Given the description of an element on the screen output the (x, y) to click on. 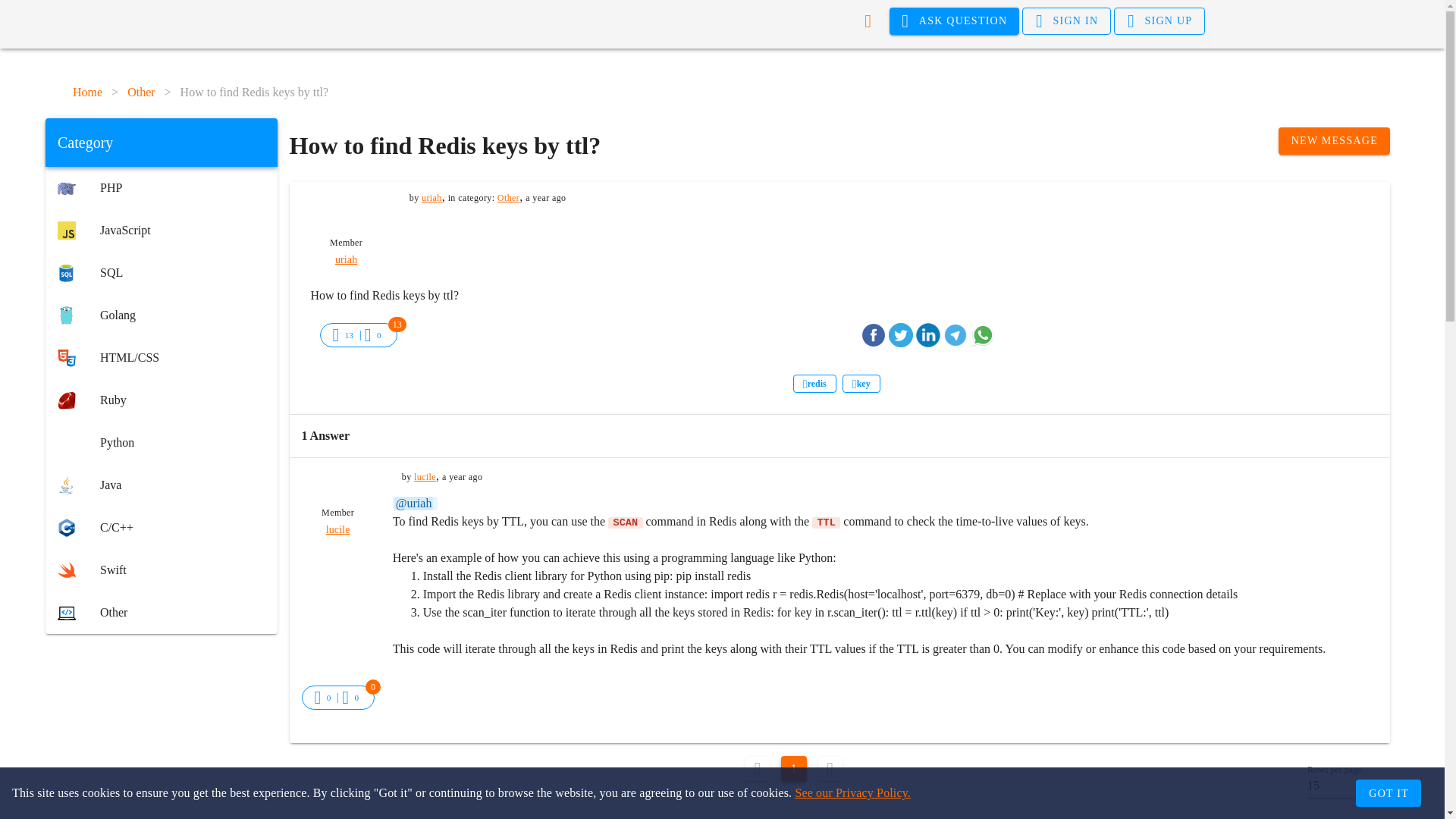
Ruby (161, 400)
LinkedIn (927, 334)
SIGN IN (1066, 21)
Other (161, 612)
Telegram (955, 334)
JavaScript (161, 230)
Python (161, 442)
PHP (161, 188)
uriah (345, 259)
Whatsapp (982, 334)
